Given the description of an element on the screen output the (x, y) to click on. 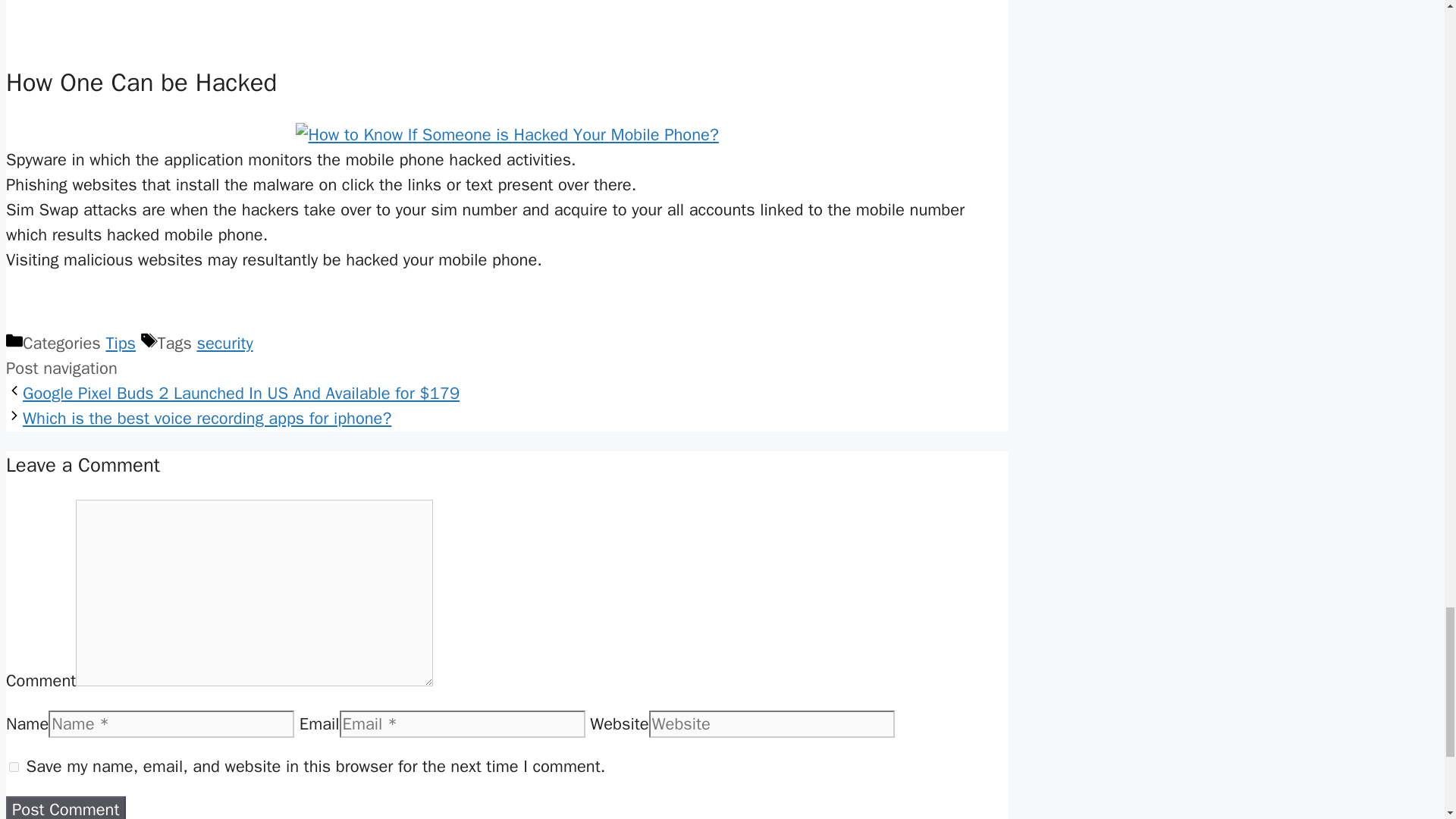
Next (207, 418)
How to Know If Someone is Hacked Your Mobile Phone? (506, 135)
Previous (241, 393)
Post Comment (65, 807)
yes (13, 767)
